Given the description of an element on the screen output the (x, y) to click on. 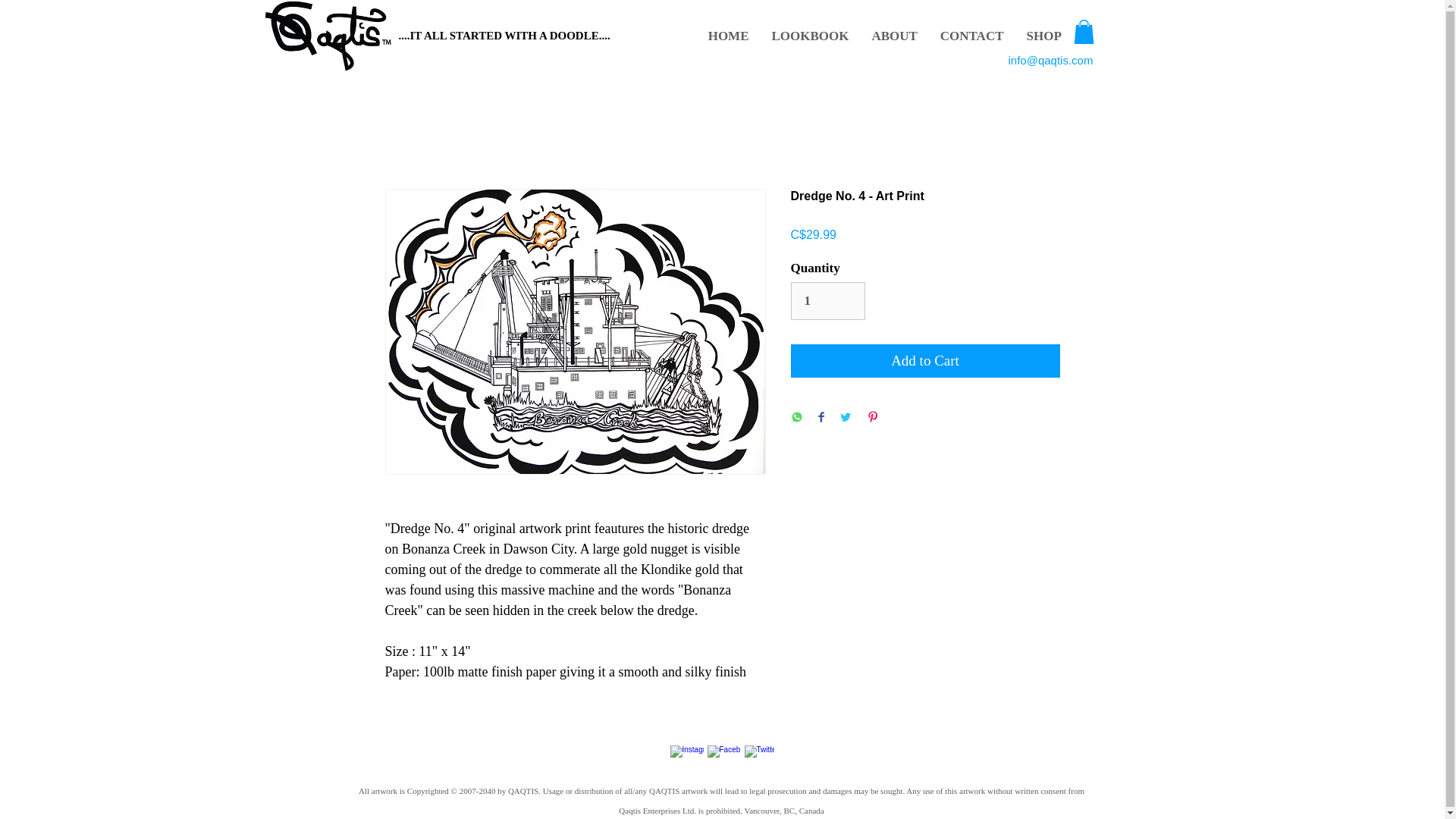
HOME (727, 35)
Add to Cart (924, 360)
CONTACT (971, 35)
1 (827, 300)
SHOP (1042, 35)
ABOUT (894, 35)
LOOKBOOK (810, 35)
